Given the description of an element on the screen output the (x, y) to click on. 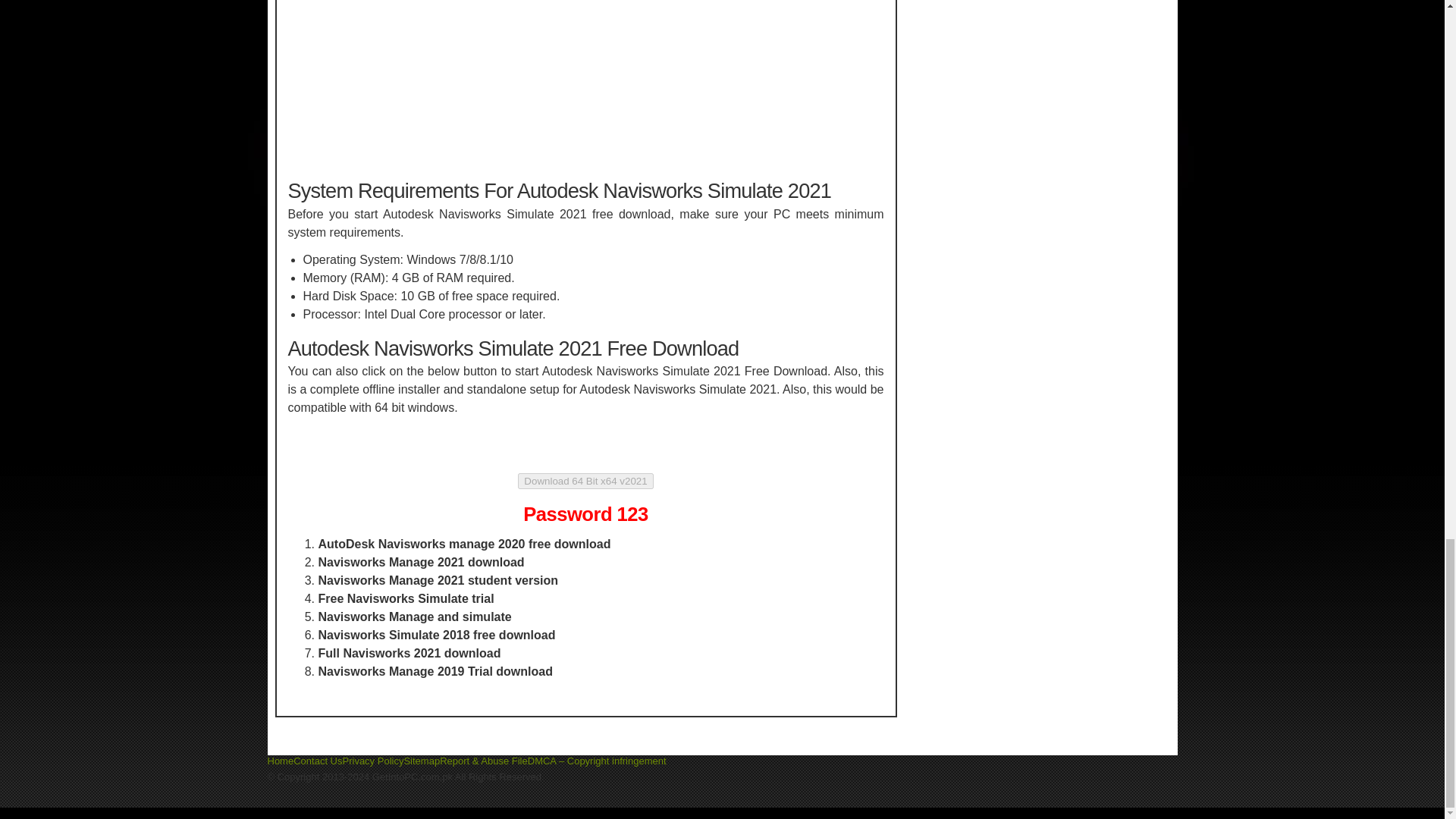
Home (280, 760)
Contact Us (318, 760)
Download 64 Bit x64 v2021 (585, 480)
Privacy Policy (373, 760)
Sitemap (421, 760)
Size: 9 GB (585, 480)
